Given the description of an element on the screen output the (x, y) to click on. 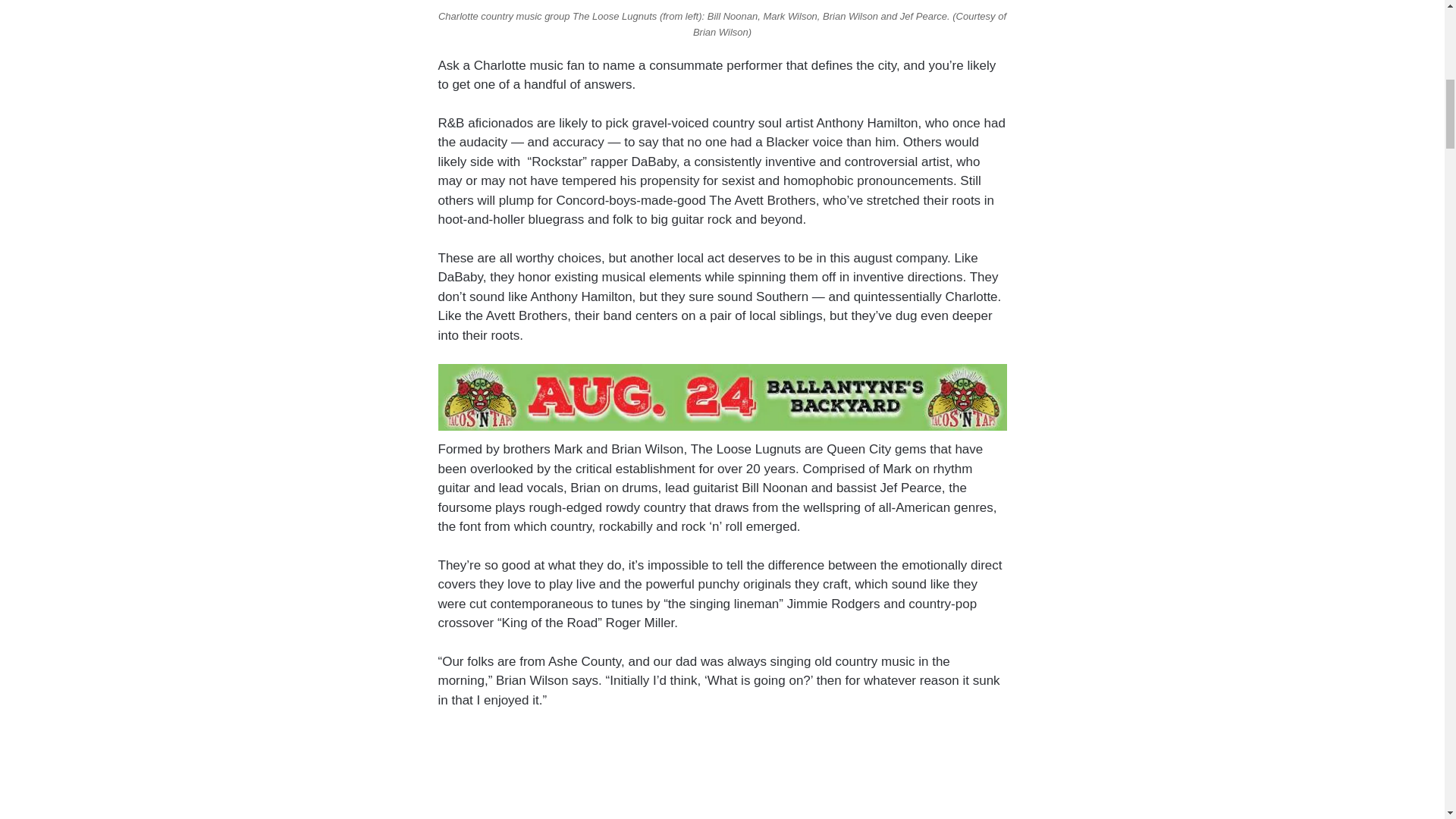
YouTube video player (720, 773)
